Given the description of an element on the screen output the (x, y) to click on. 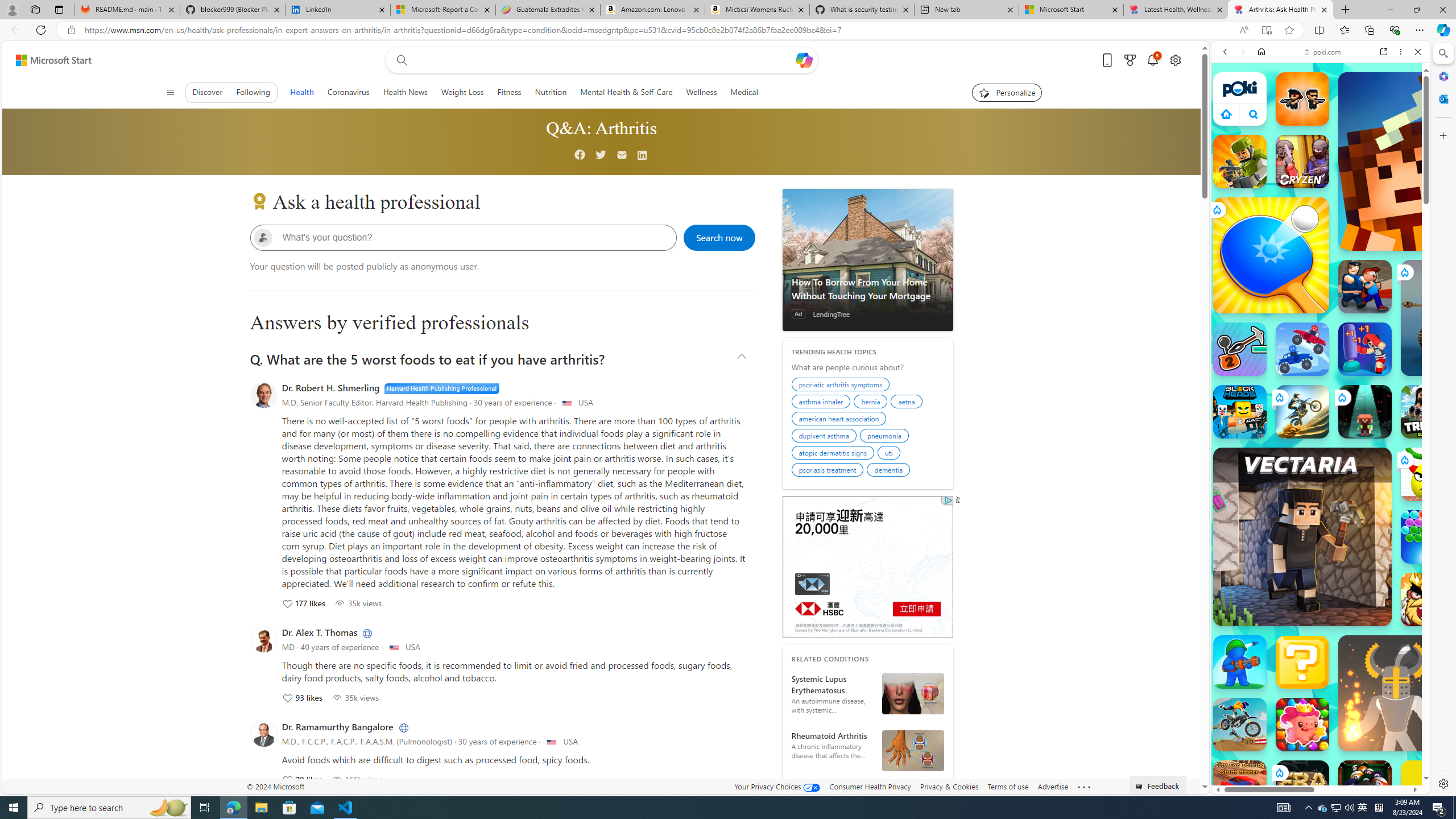
Crazy Bikes Crazy Bikes (1239, 724)
Mystery Tile (1302, 661)
Era: Evolution (1302, 787)
Advertisement (867, 567)
Poki - Free Online Games - Play Now! (1315, 175)
american heart association (839, 420)
Stunt Bike Extreme Stunt Bike Extreme (1302, 411)
Diagrammatic Representation of - Rheumatoid Arthritis (911, 750)
